Given the description of an element on the screen output the (x, y) to click on. 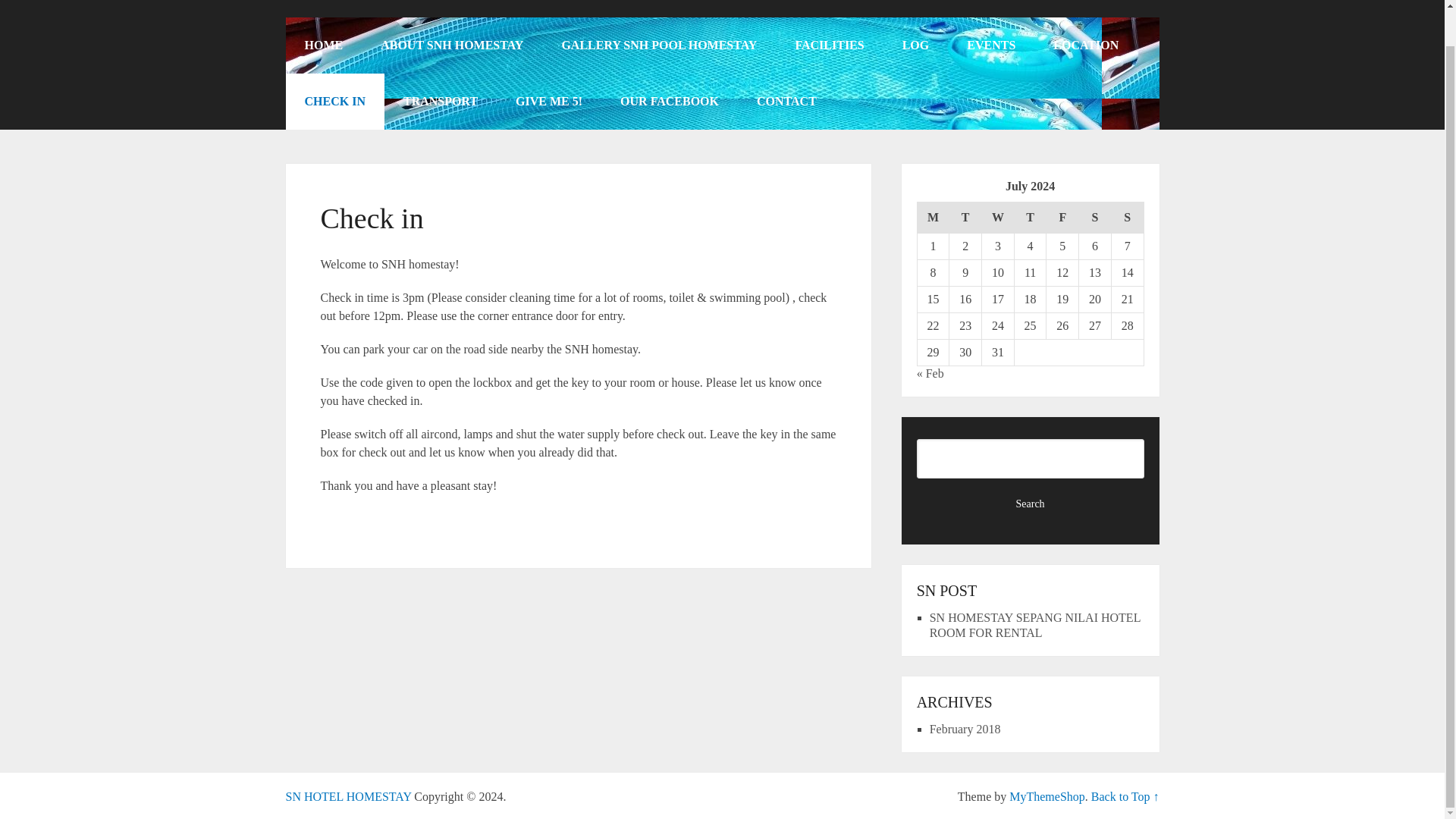
Sepang Nilai Malaysia Homestay and Hotel Room (347, 796)
Friday (1062, 216)
LOCATION (1085, 45)
SN HOTEL HOMESTAY (347, 796)
EVENTS (990, 45)
MyThemeShop (1046, 796)
LOG (916, 45)
GIVE ME 5! (548, 101)
CHECK IN (334, 101)
Thursday (1029, 216)
GALLERY SNH POOL HOMESTAY (658, 45)
Wednesday (997, 216)
FACILITIES (829, 45)
Tuesday (965, 216)
OUR FACEBOOK (669, 101)
